Given the description of an element on the screen output the (x, y) to click on. 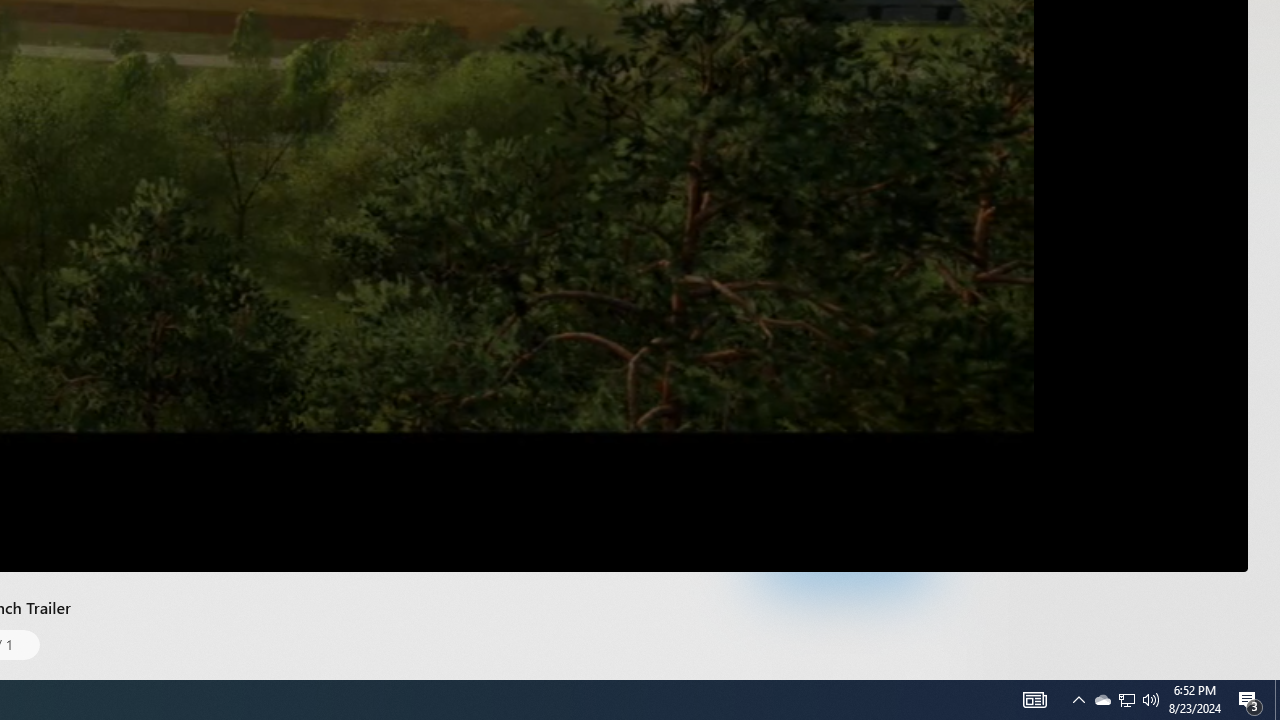
Buy as gift (909, 456)
Share (950, 456)
Open Xbox App (844, 603)
Explore PC Game Pass (844, 560)
